Given the description of an element on the screen output the (x, y) to click on. 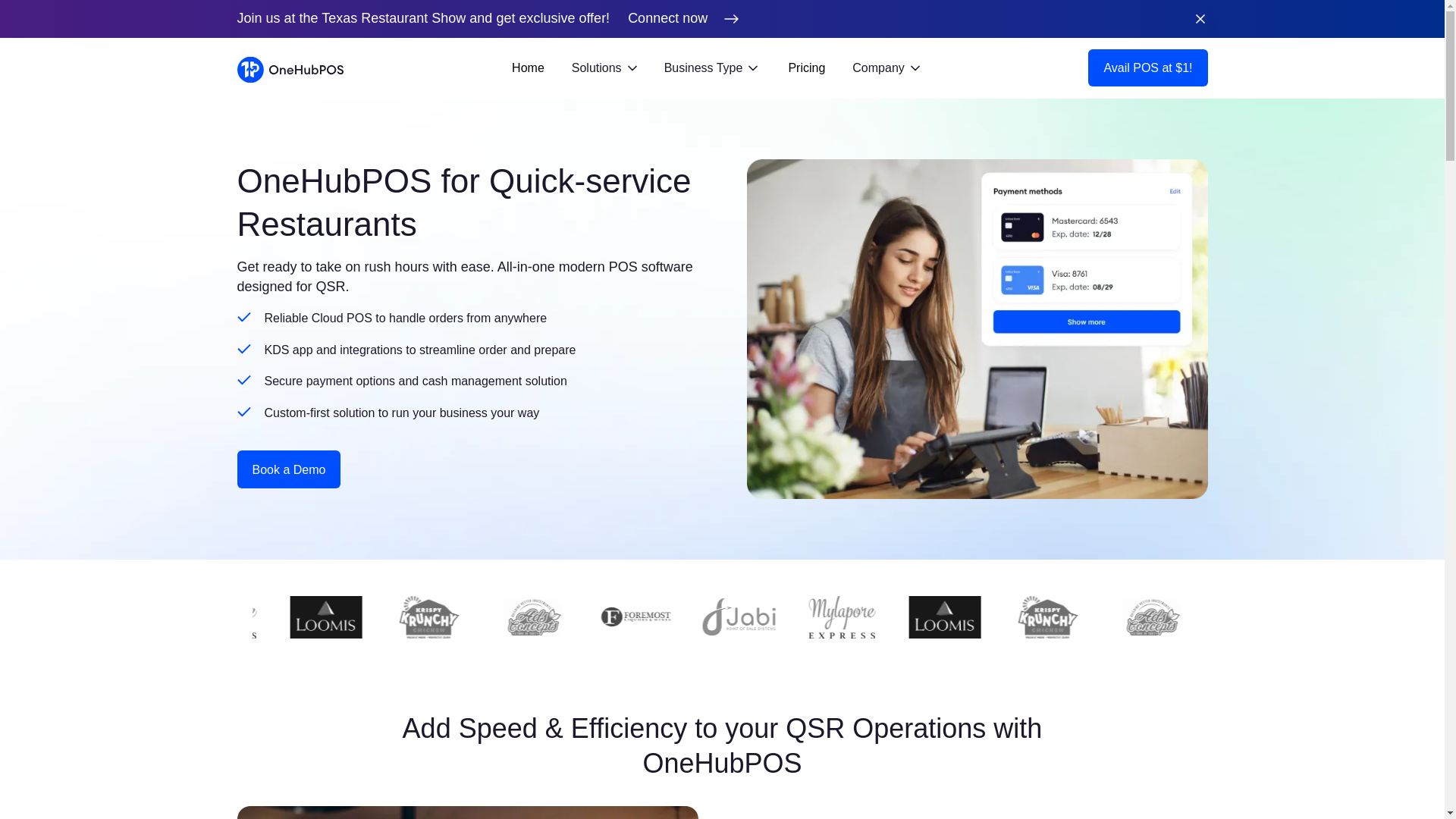
Home (527, 68)
Pricing (806, 68)
Connect now (688, 18)
Book a Demo (287, 469)
